Given the description of an element on the screen output the (x, y) to click on. 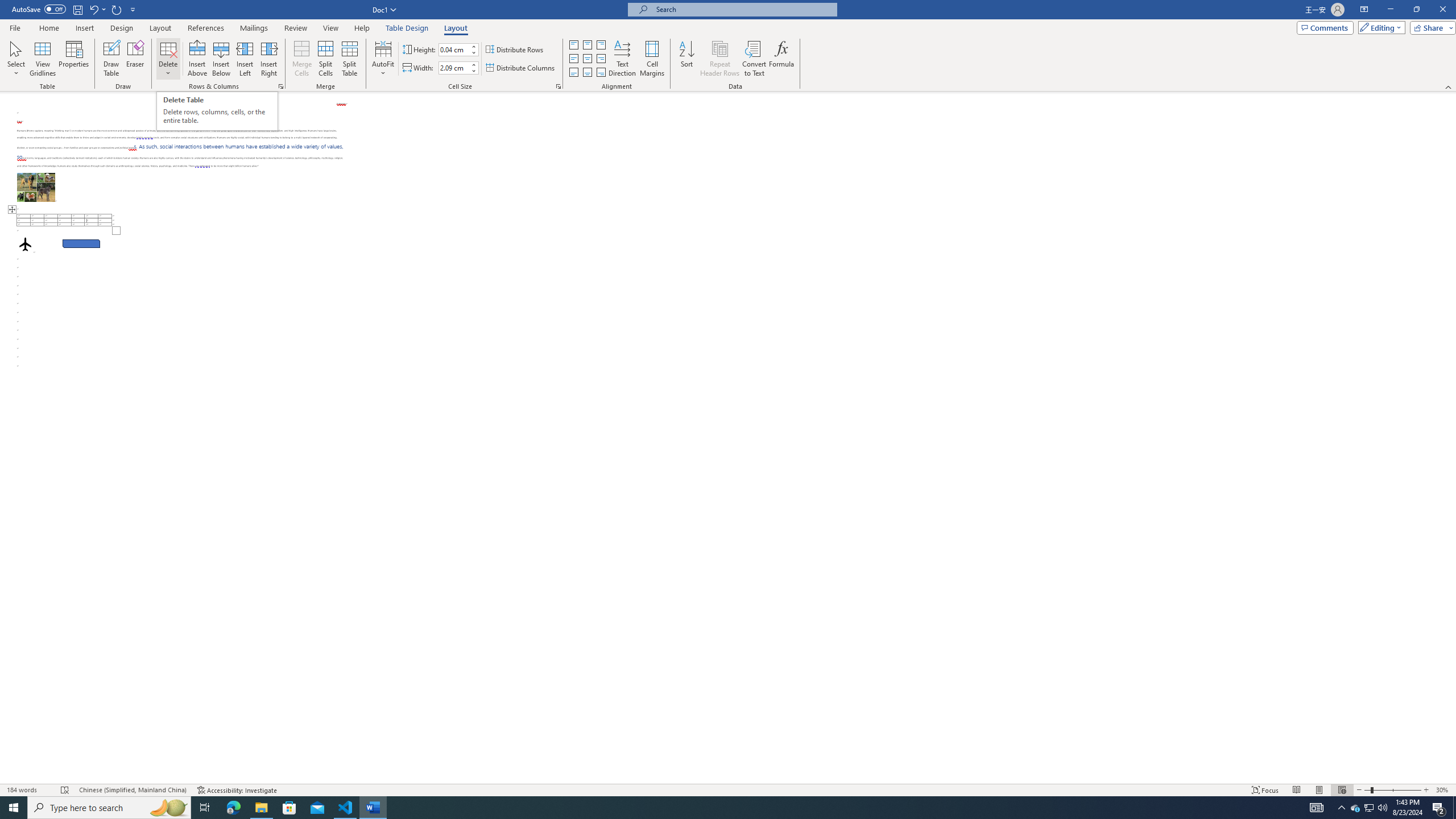
Align Center Justified (573, 58)
Align Bottom Right (601, 72)
Align Bottom Justified (573, 72)
Properties... (558, 85)
Less (473, 70)
Table Row Height (453, 49)
Distribute Columns (521, 67)
Formula... (780, 58)
Delete (167, 58)
